Given the description of an element on the screen output the (x, y) to click on. 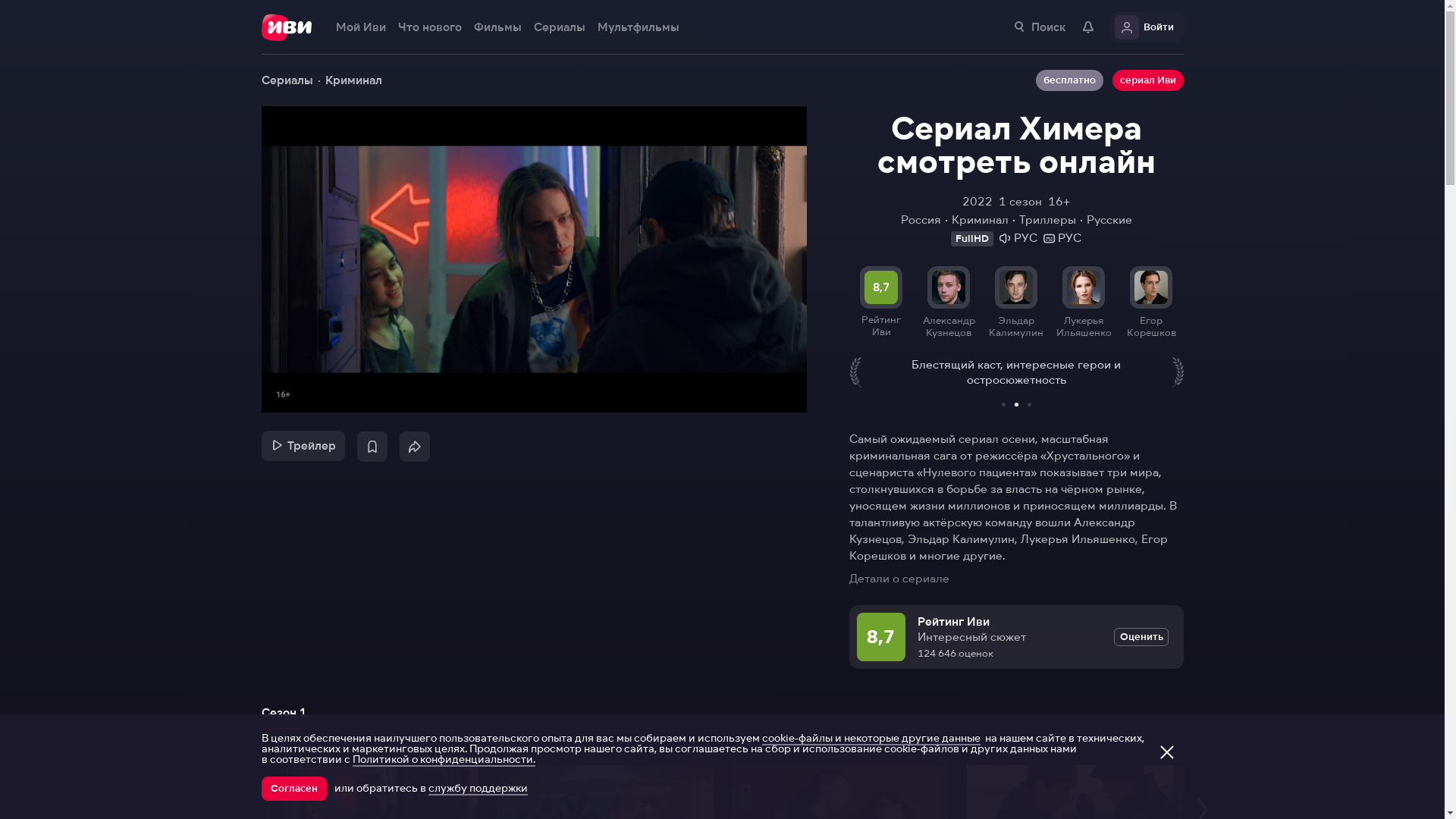
2022 Element type: text (977, 201)
